Given the description of an element on the screen output the (x, y) to click on. 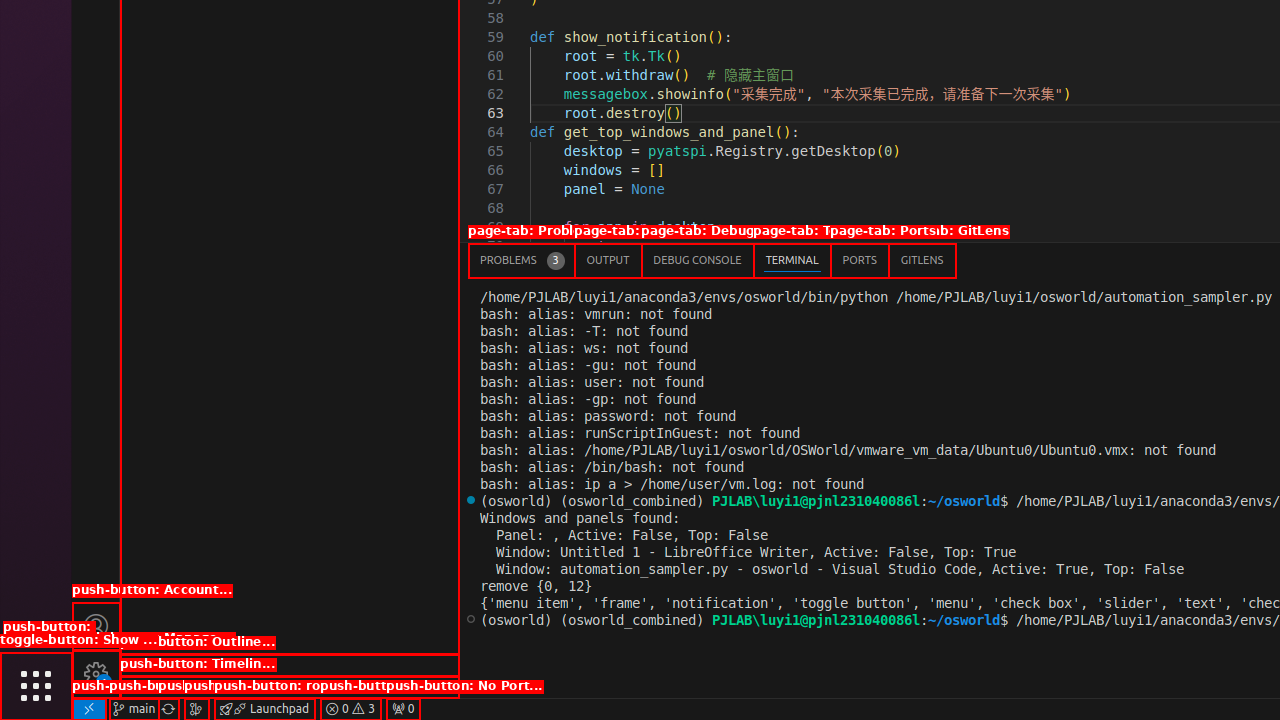
Output (Ctrl+K Ctrl+H) Element type: page-tab (608, 260)
OSWorld (Git) - main, Checkout Branch/Tag... Element type: push-button (134, 709)
Active View Switcher Element type: page-tab-list (712, 260)
Debug Console (Ctrl+Shift+Y) Element type: page-tab (697, 260)
No Ports Forwarded Element type: push-button (403, 709)
